Given the description of an element on the screen output the (x, y) to click on. 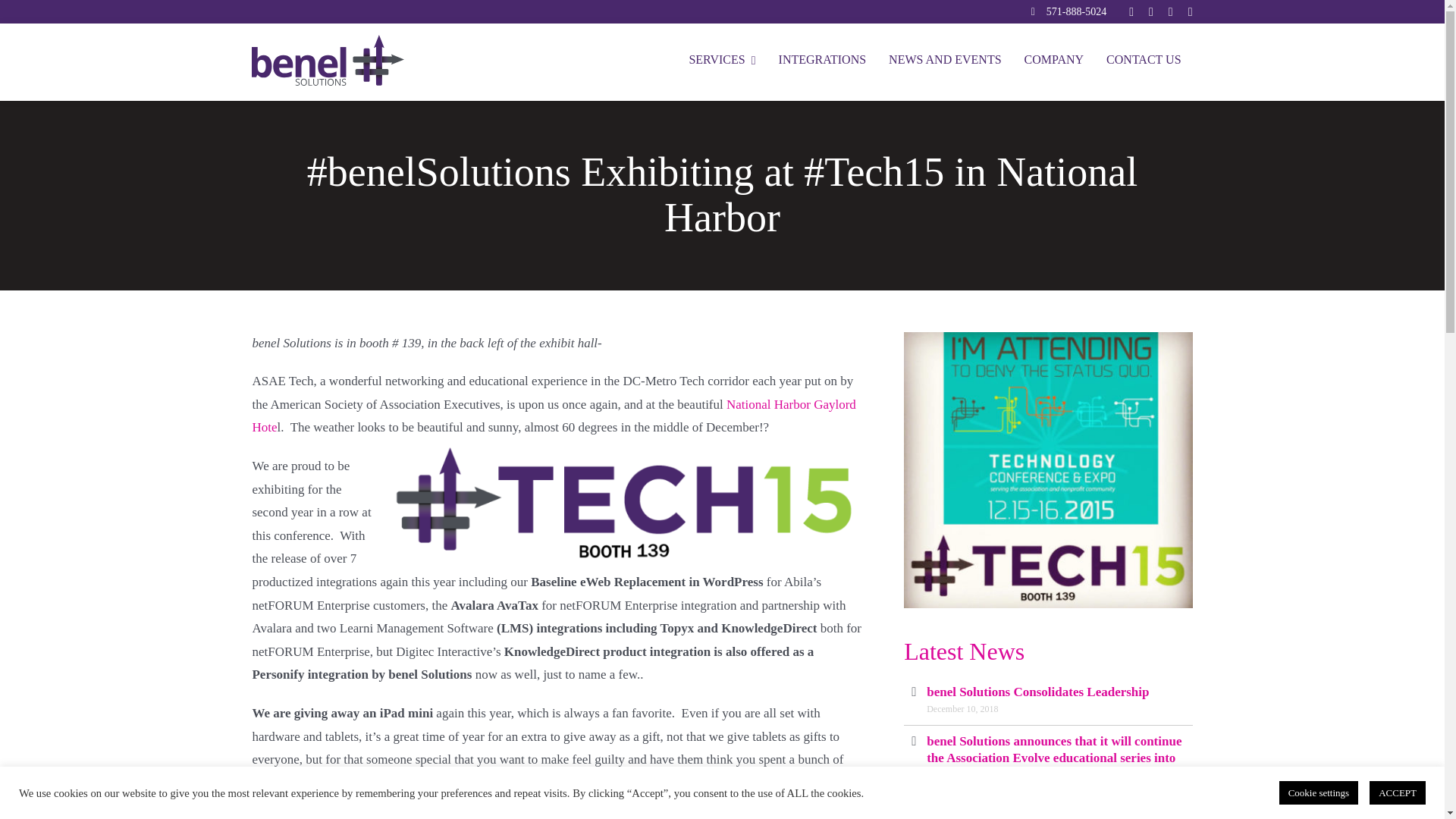
CONTACT US (1143, 61)
571-888-5024 (1076, 11)
SERVICES (722, 61)
benel Solutions Consolidates Leadership (1037, 691)
INTEGRATIONS (822, 61)
NEWS AND EVENTS (944, 61)
National Harbor Gaylord Hote (553, 415)
COMPANY (1054, 61)
